Given the description of an element on the screen output the (x, y) to click on. 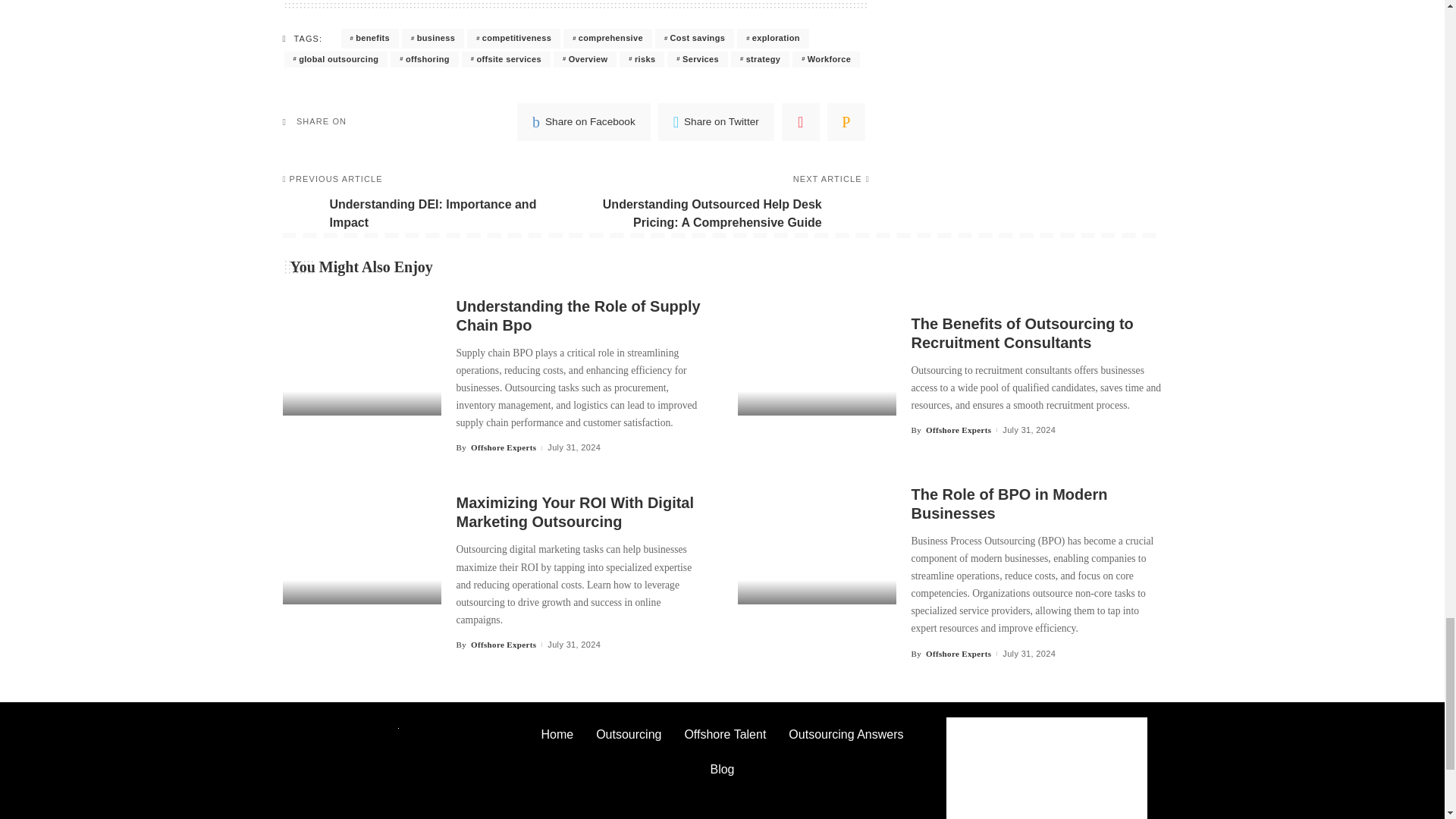
Cost savings (694, 38)
competitiveness (513, 38)
benefits (369, 38)
comprehensive (607, 38)
exploration (772, 38)
global outsourcing (335, 59)
offshoring (424, 59)
business (432, 38)
benefits (369, 38)
